Given the description of an element on the screen output the (x, y) to click on. 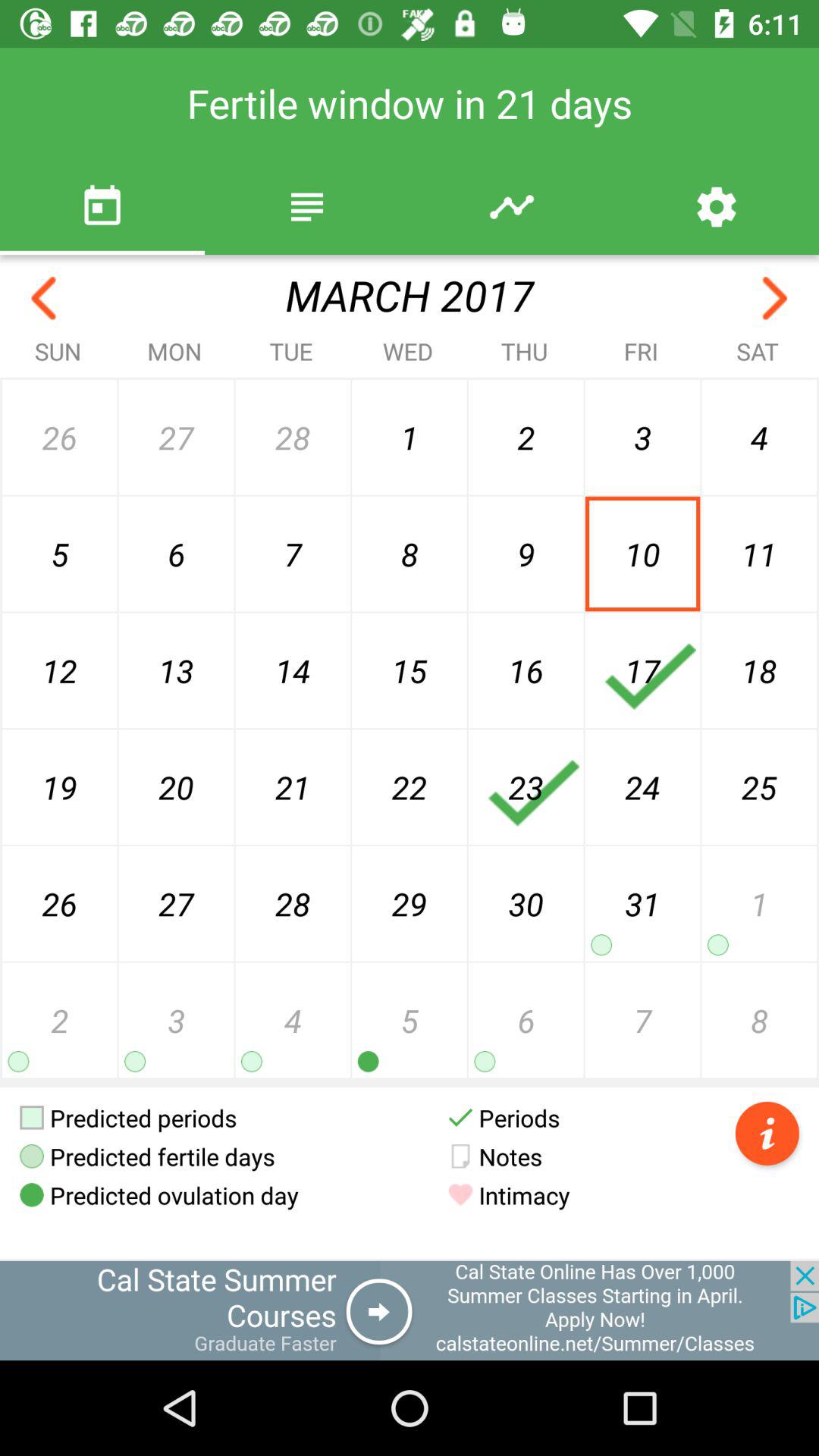
move to previous month (43, 298)
